Given the description of an element on the screen output the (x, y) to click on. 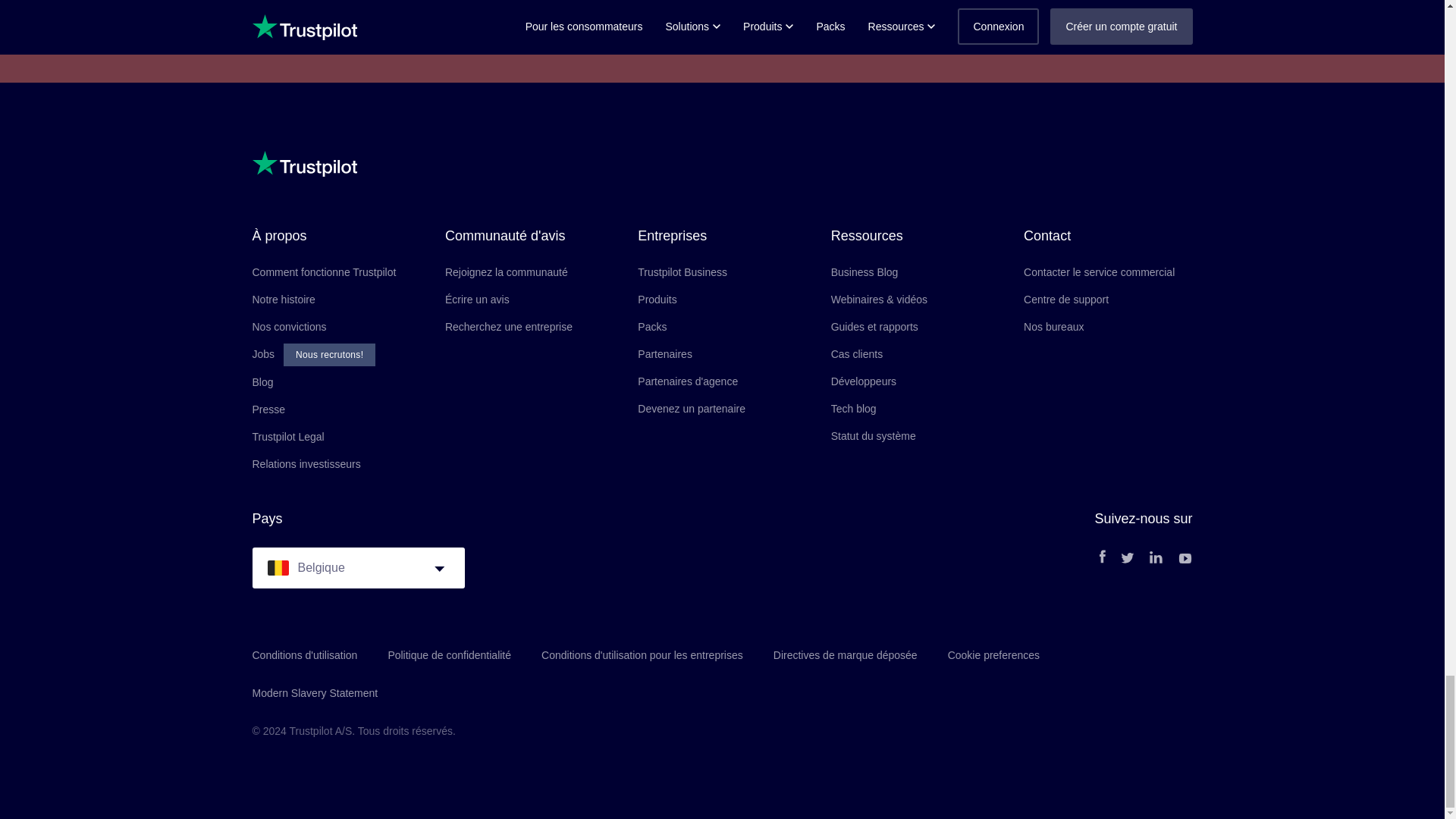
Trustpilot Logo (303, 163)
Belgique (277, 567)
